Given the description of an element on the screen output the (x, y) to click on. 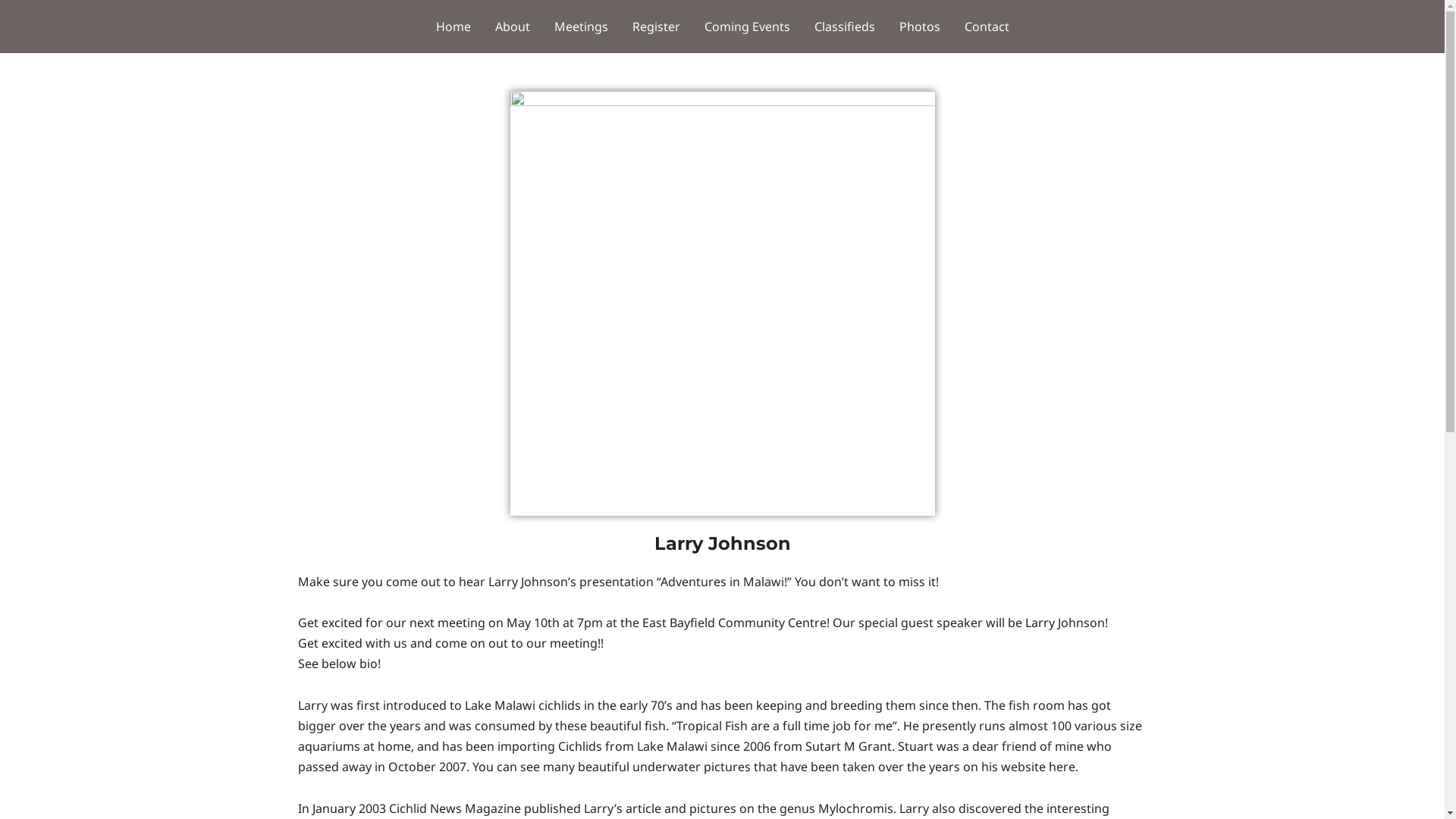
Meetings Element type: text (580, 26)
Home Element type: text (452, 26)
Coming Events Element type: text (746, 26)
Photos Element type: text (919, 26)
Register Element type: text (656, 26)
Contact Element type: text (986, 26)
Classifieds Element type: text (844, 26)
About Element type: text (511, 26)
